Given the description of an element on the screen output the (x, y) to click on. 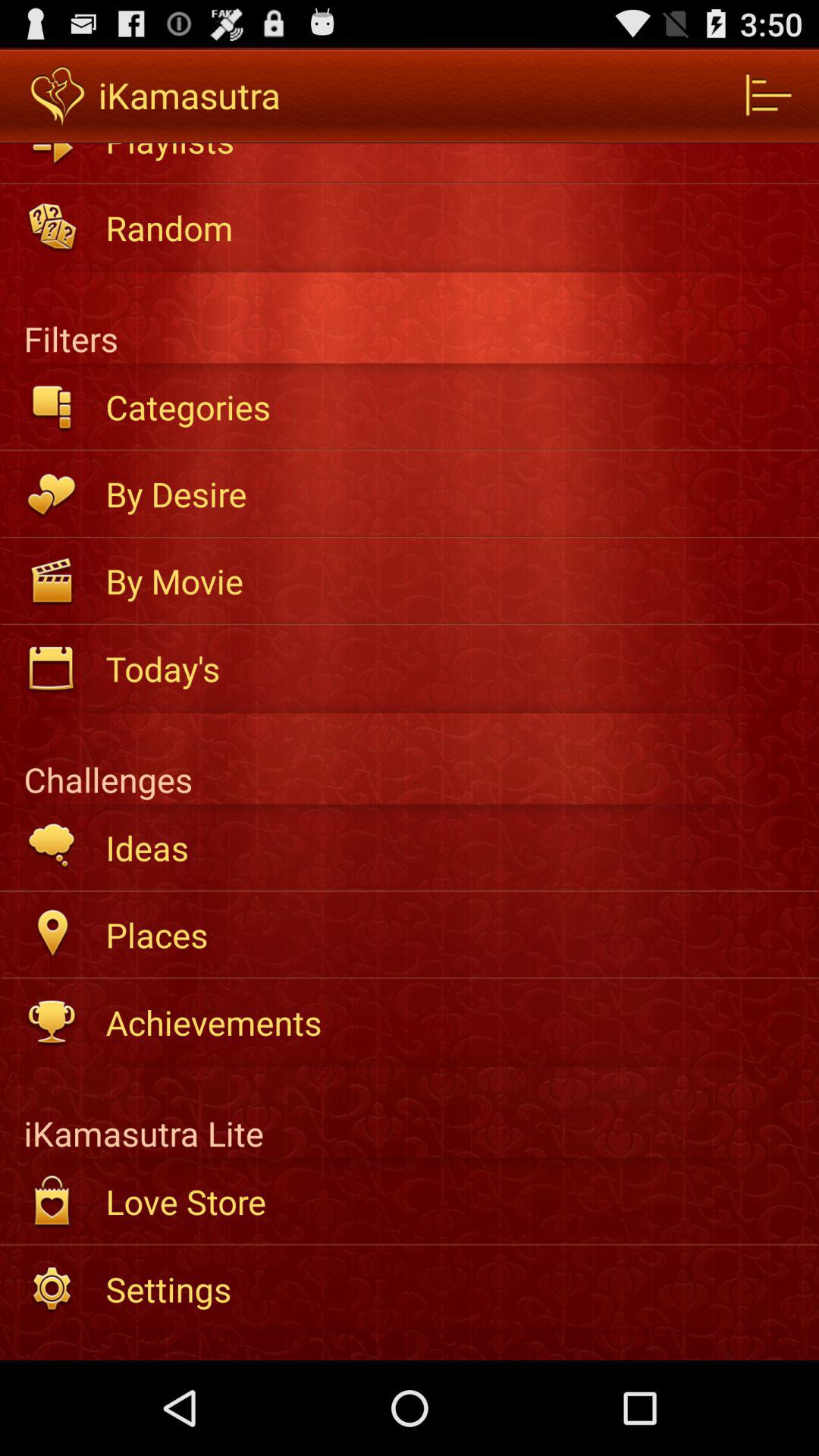
press the item above places item (452, 847)
